Given the description of an element on the screen output the (x, y) to click on. 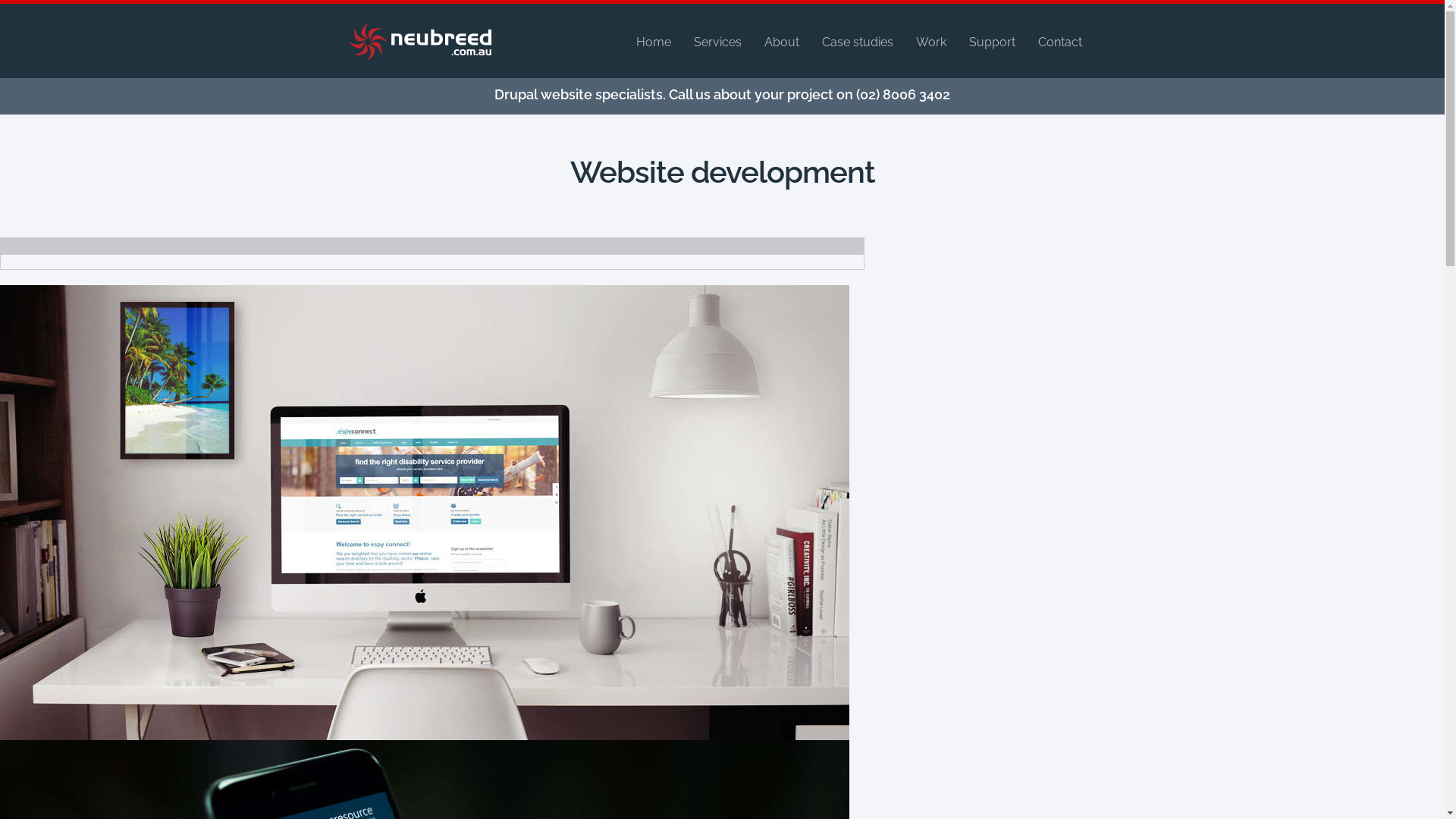
Skip to main content Element type: text (689, 79)
Support Element type: text (991, 42)
Case studies Element type: text (857, 42)
About Element type: text (781, 42)
Home Element type: text (652, 42)
(02) 8006 3402 Element type: text (903, 94)
Work Element type: text (930, 42)
Services Element type: text (716, 42)
Contact Element type: text (1058, 42)
